Given the description of an element on the screen output the (x, y) to click on. 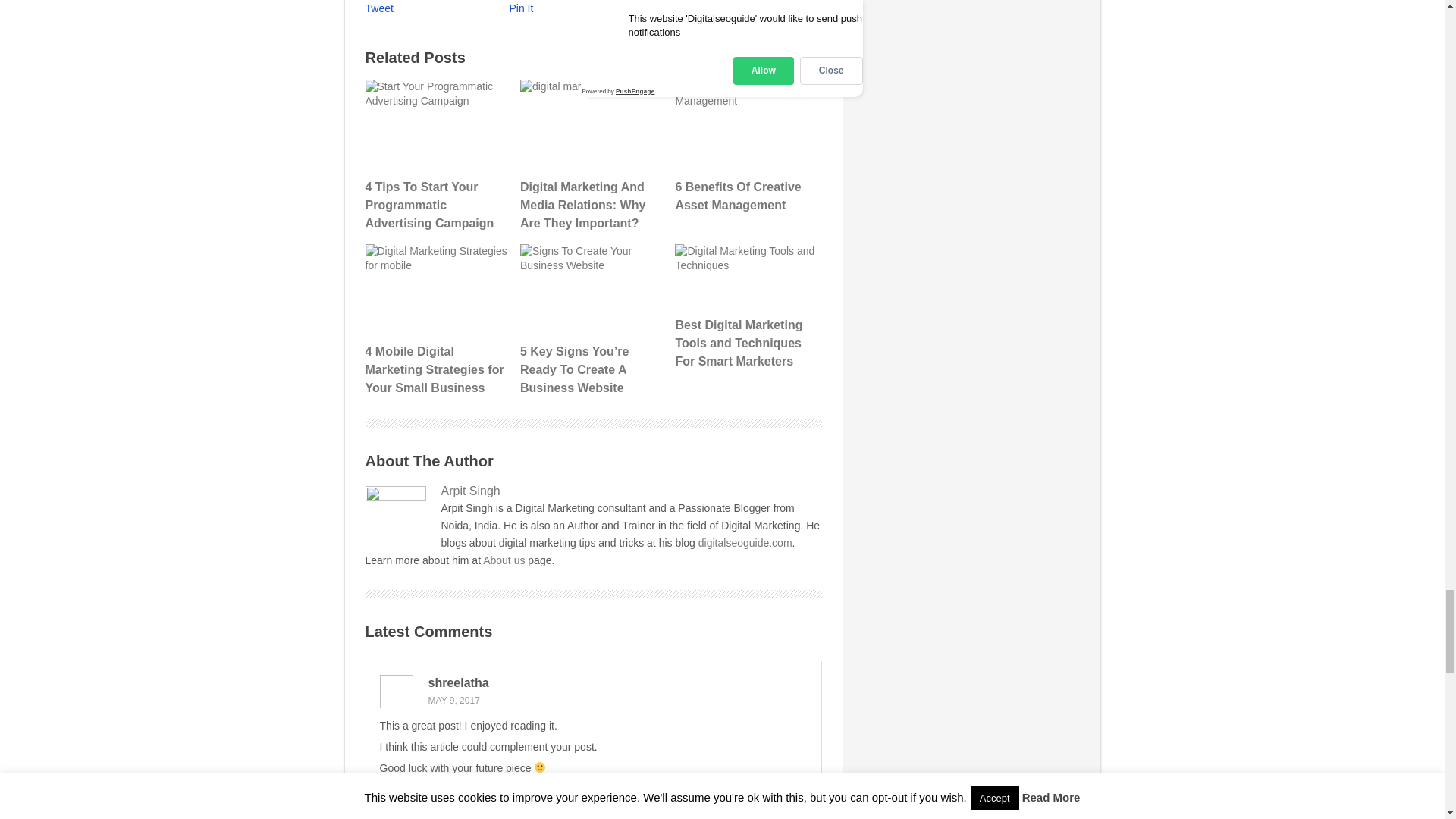
4 Tips To Start Your Programmatic Advertising Campaign (437, 155)
6 Benefits Of Creative Asset Management (746, 146)
